Given the description of an element on the screen output the (x, y) to click on. 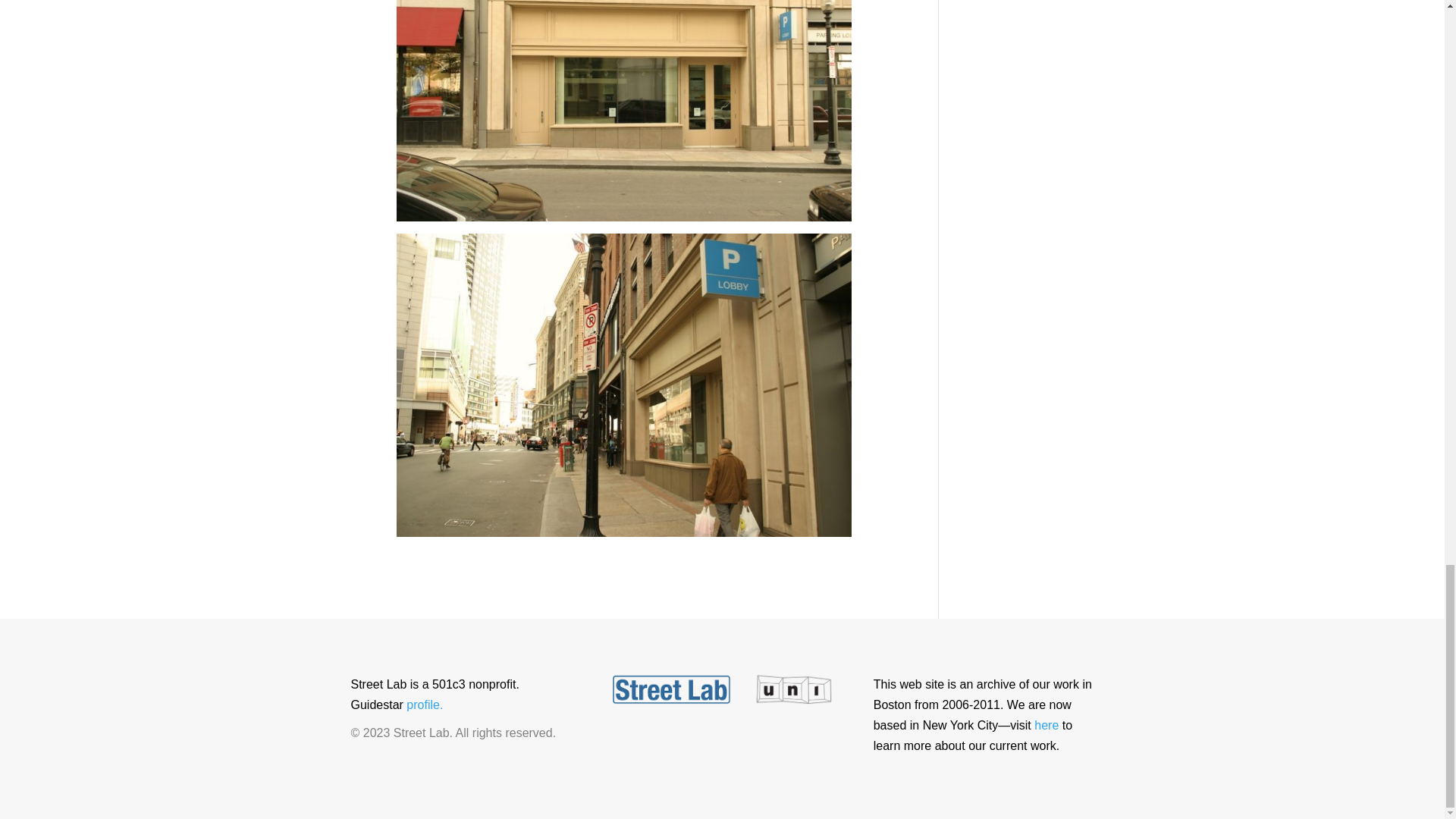
Street Lab (1045, 725)
here (1045, 725)
profile. (424, 704)
